Given the description of an element on the screen output the (x, y) to click on. 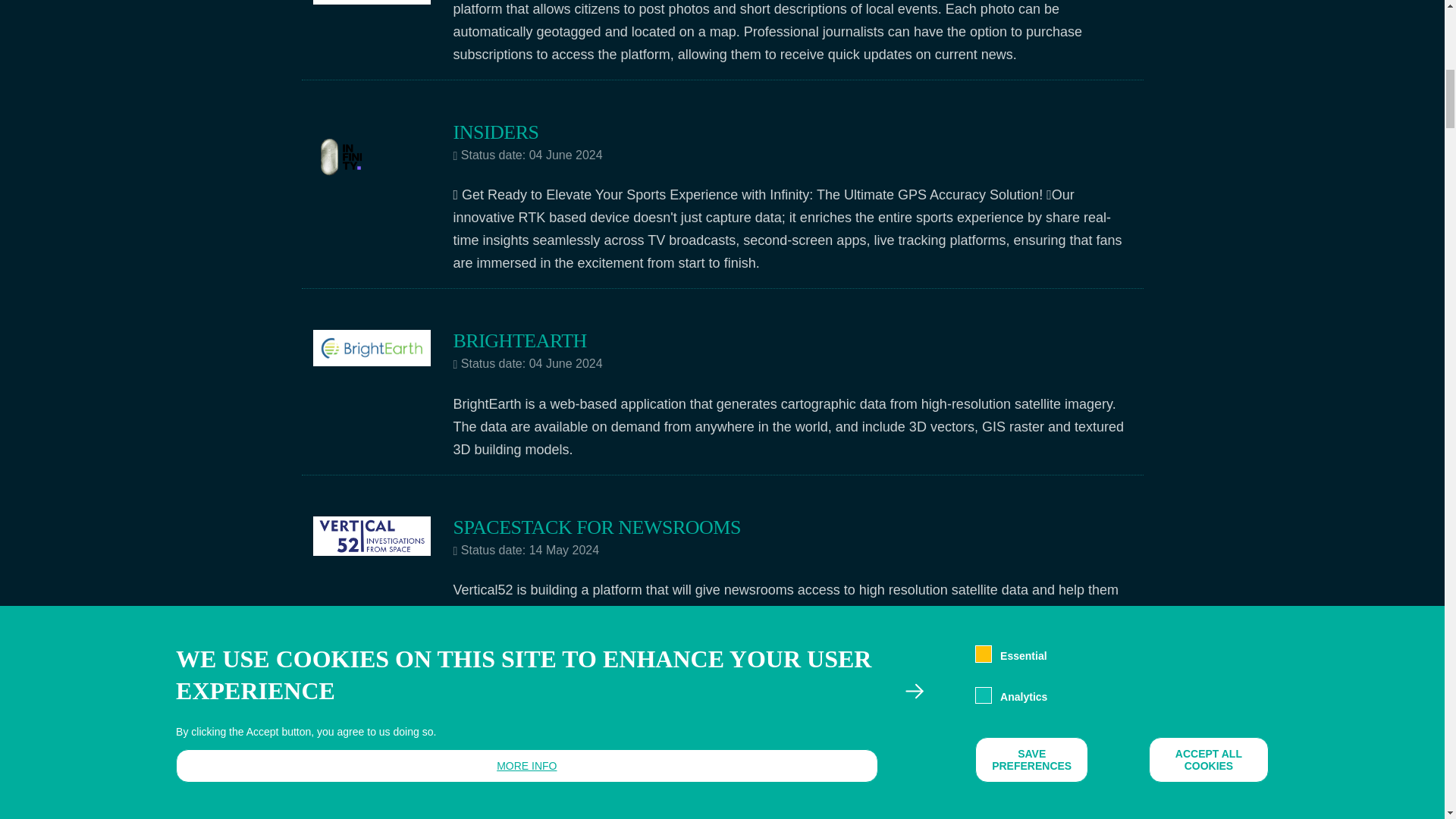
INSIDERS (495, 132)
BRIGHTEARTH (519, 341)
CRAFT YOUR SPACE (543, 690)
SPACESTACK FOR NEWSROOMS (596, 527)
